Given the description of an element on the screen output the (x, y) to click on. 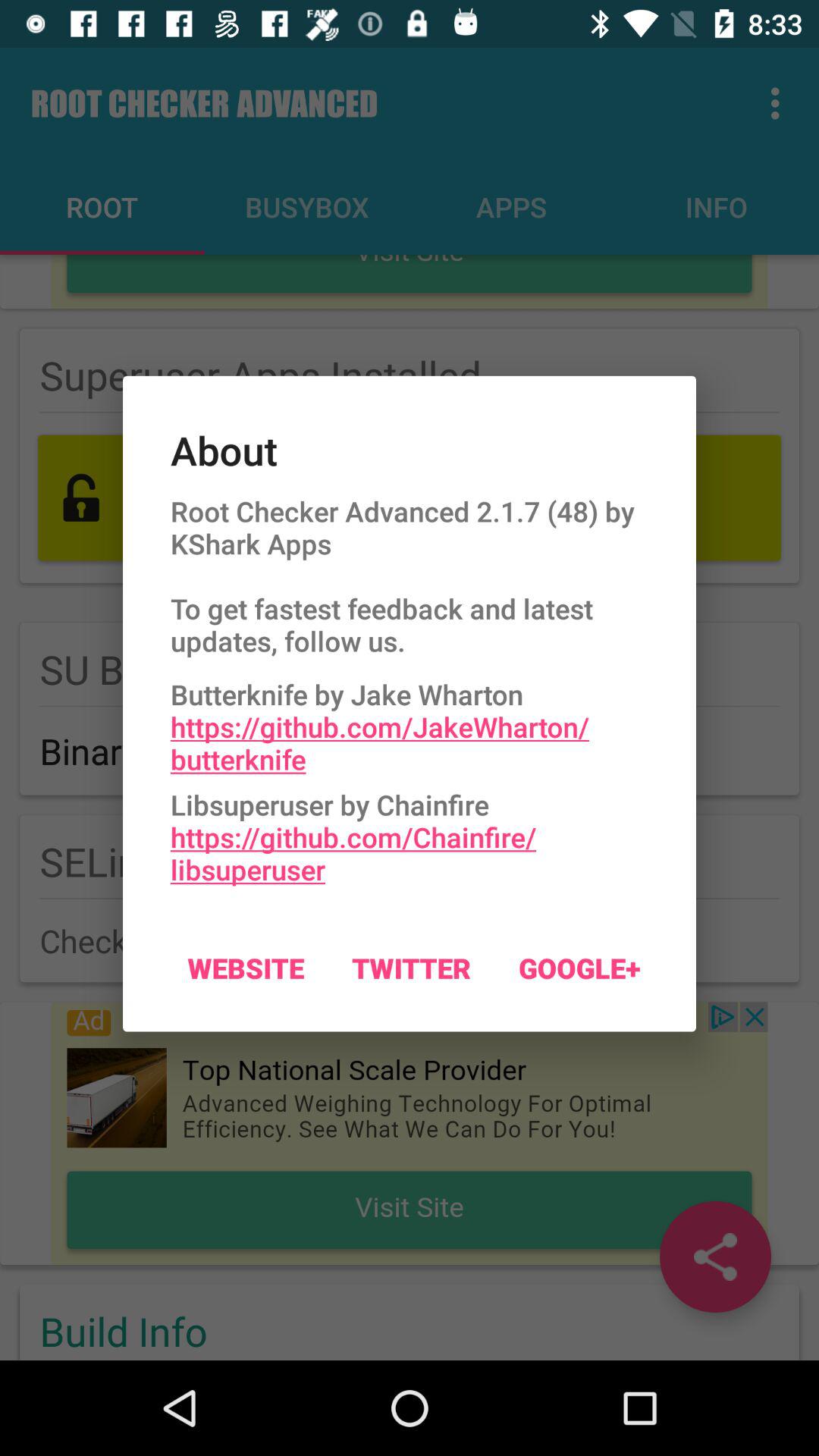
choose google+ icon (579, 967)
